Given the description of an element on the screen output the (x, y) to click on. 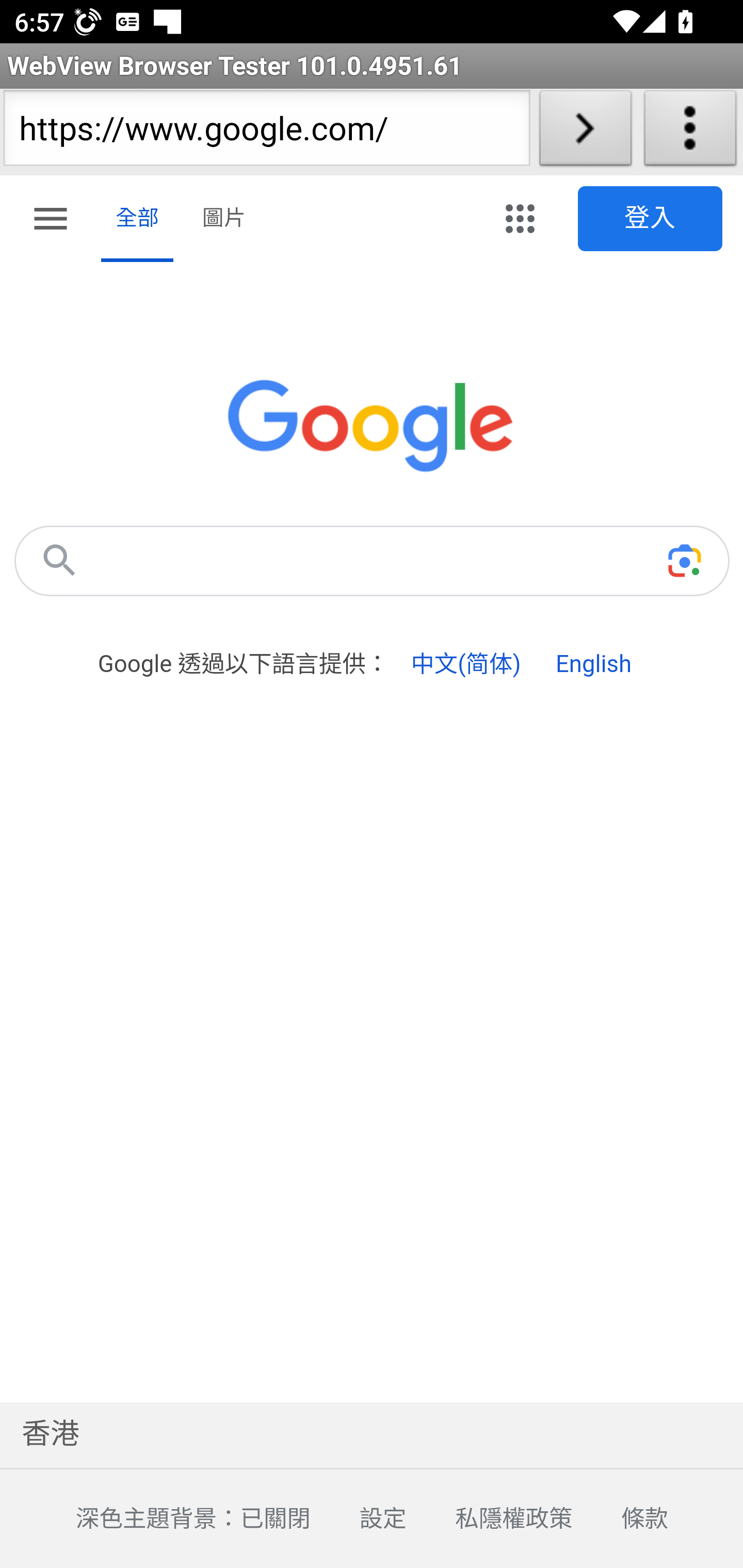
https://www.google.com/ (266, 132)
Load URL (585, 132)
About WebView (690, 132)
主選單 (51, 222)
圖片 (224, 219)
Google 應用程式 (519, 218)
登入 (650, 218)
Google 搜尋 (59, 560)
使用相機或相片搜尋 (683, 560)
中文(简体) (465, 663)
English (593, 663)
深色主題背景：已關閉 (168, 1519)
設定 (357, 1519)
私隱權政策 (489, 1519)
條款 (619, 1519)
